Given the description of an element on the screen output the (x, y) to click on. 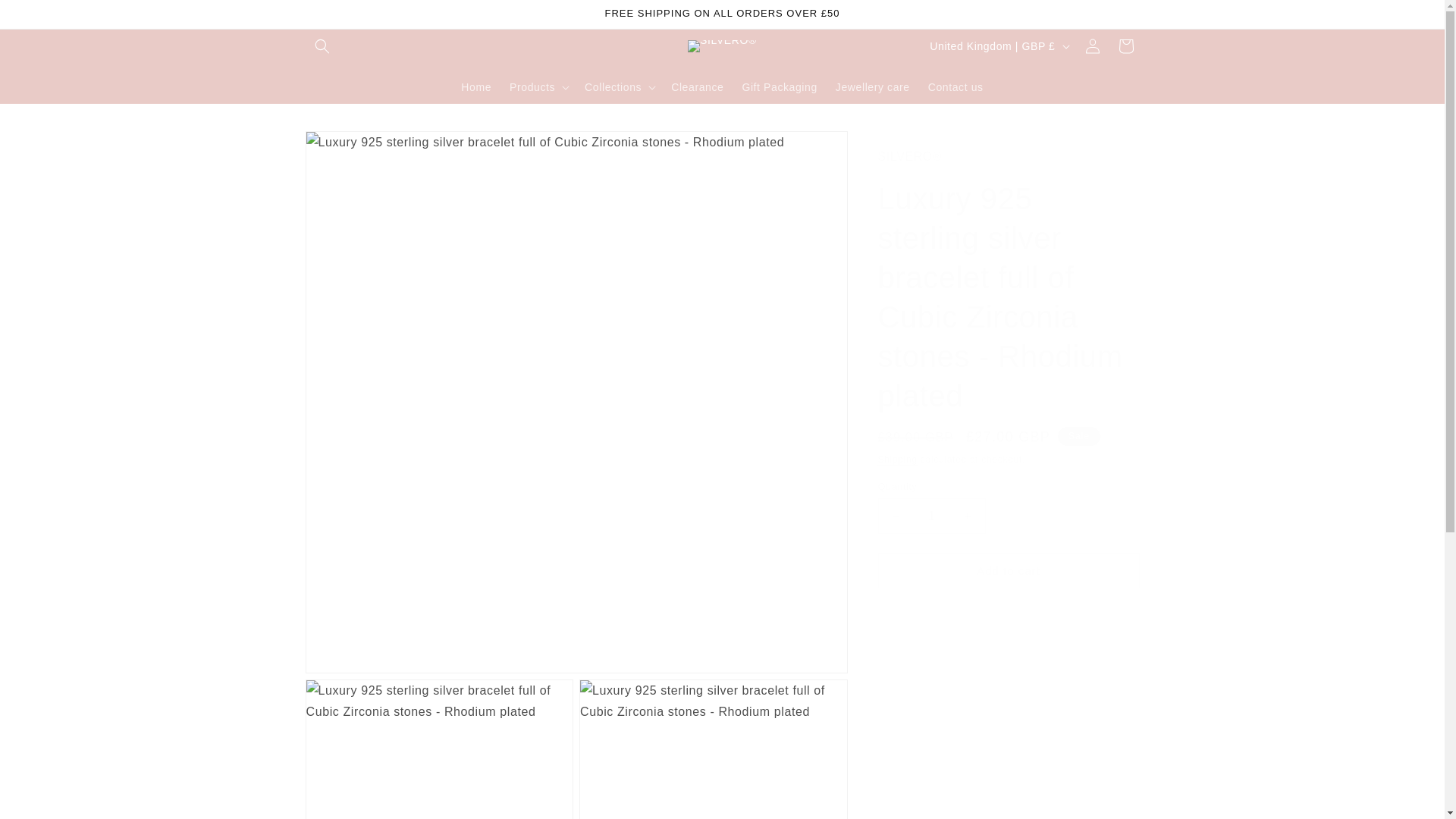
Home (475, 87)
1 (931, 515)
Open media 3 in modal (713, 749)
Open media 2 in modal (438, 749)
Skip to content (45, 17)
